Given the description of an element on the screen output the (x, y) to click on. 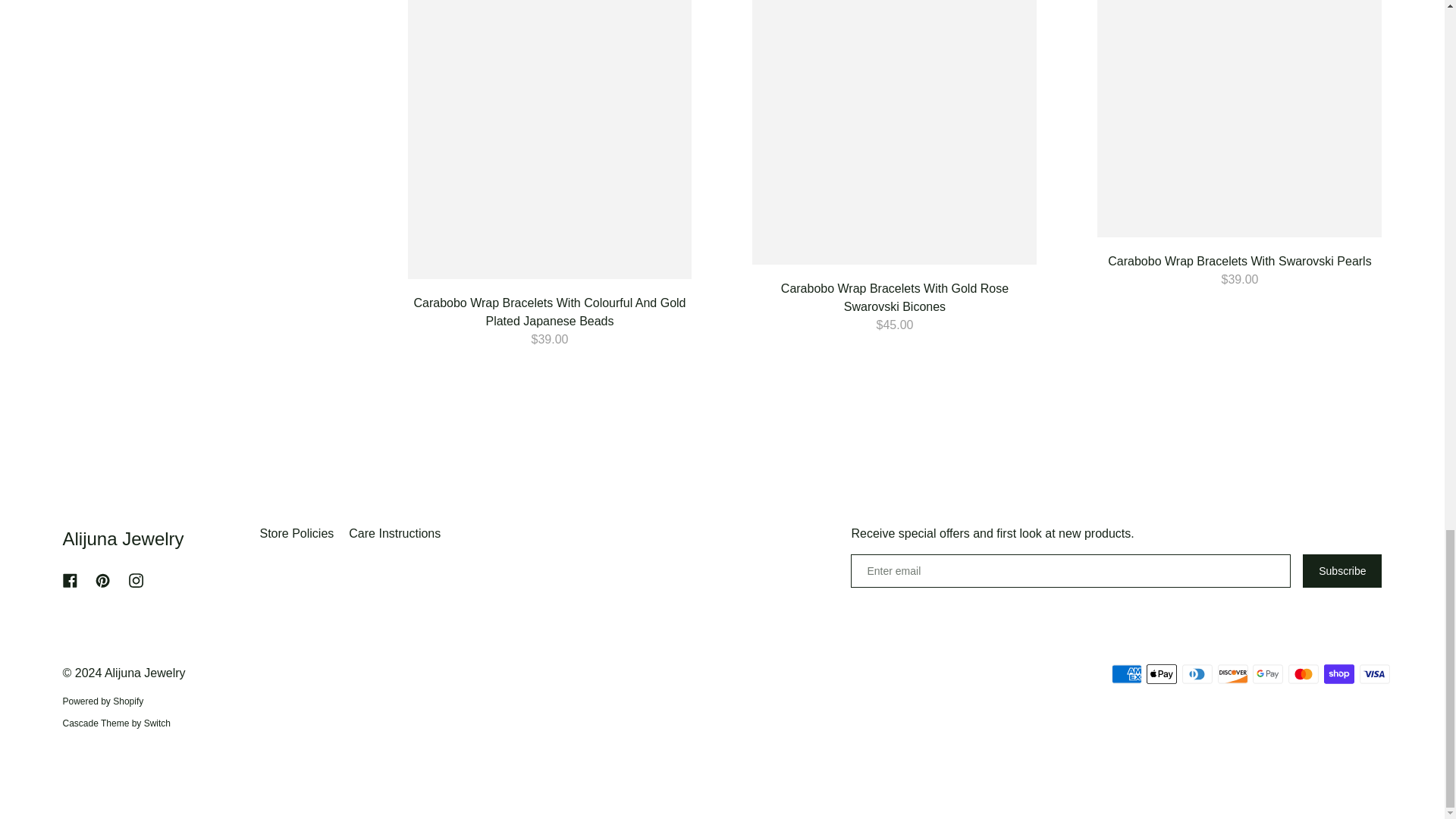
American Express (1126, 673)
Switch (95, 723)
Apple Pay (1161, 673)
Alijuna Jewelry on Facebook (69, 580)
Google Pay (1267, 673)
Visa (1373, 673)
Alijuna Jewelry on Instagram (135, 580)
Shop Pay (1338, 673)
Diners Club (1197, 673)
Discover (1232, 673)
